Given the description of an element on the screen output the (x, y) to click on. 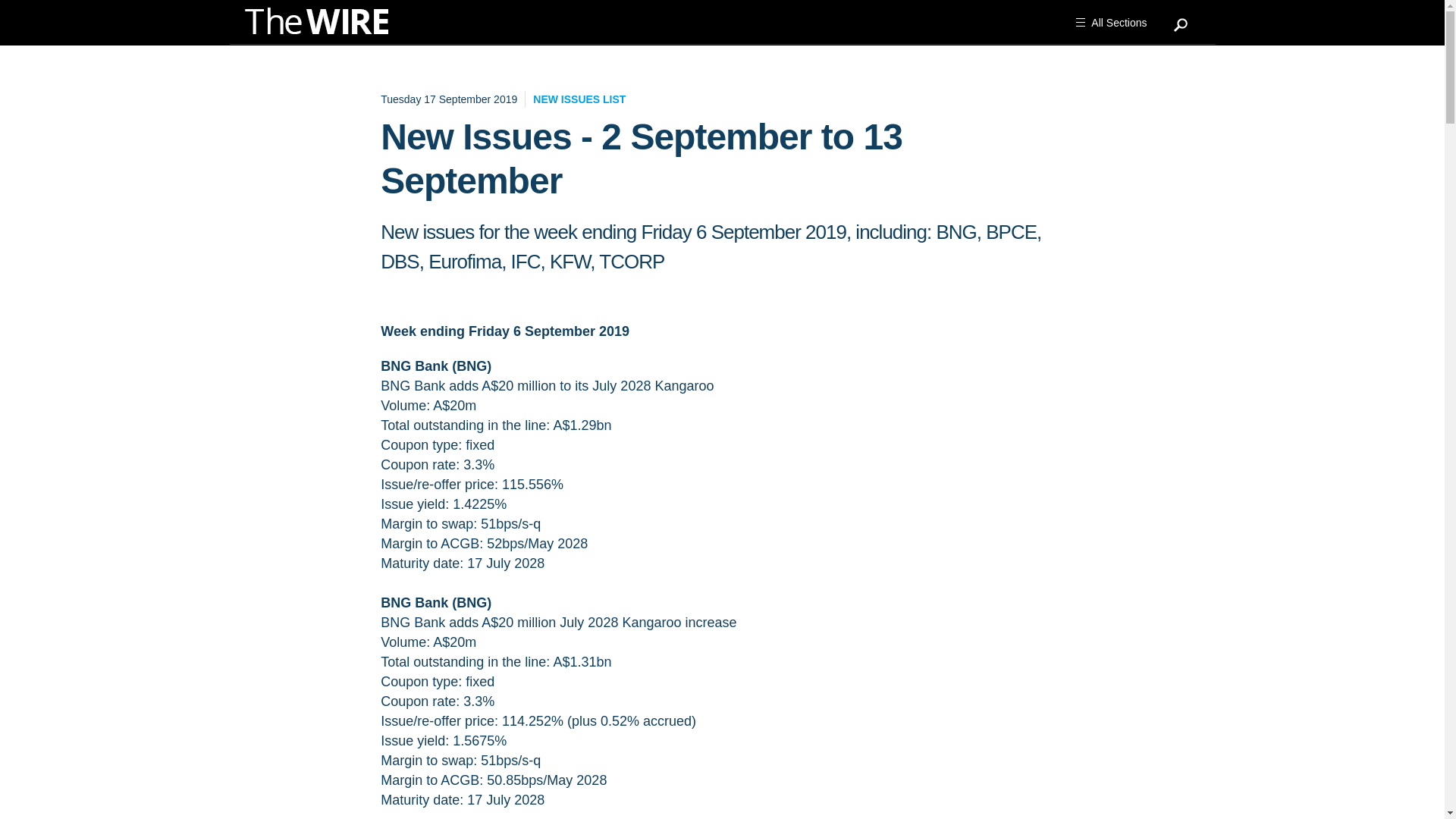
Search Element type: text (1180, 18)
NEW ISSUES LIST Element type: text (578, 99)
The Wire Element type: text (323, 24)
